Given the description of an element on the screen output the (x, y) to click on. 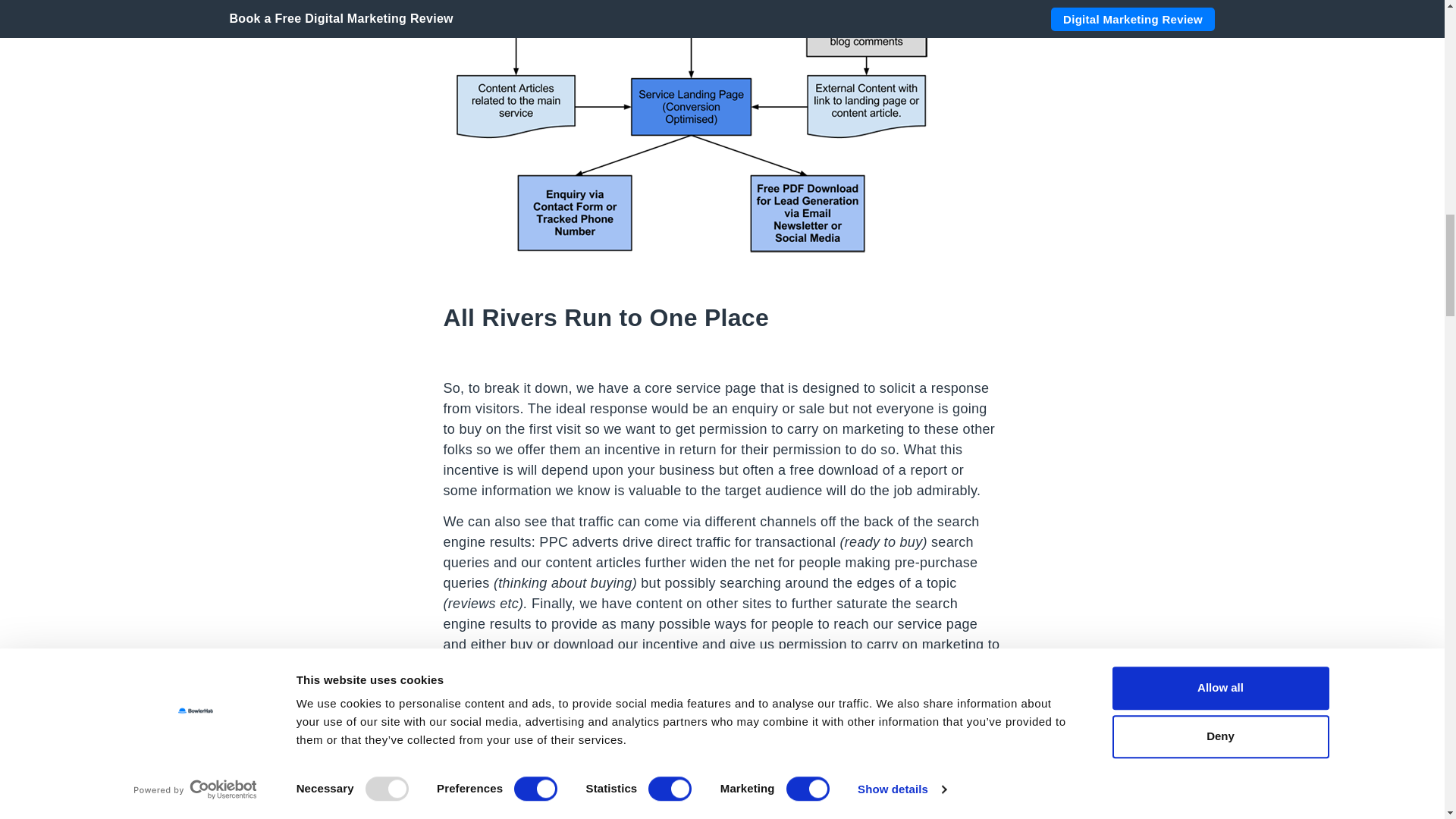
Internet-Marketing-Strategy (689, 127)
